Given the description of an element on the screen output the (x, y) to click on. 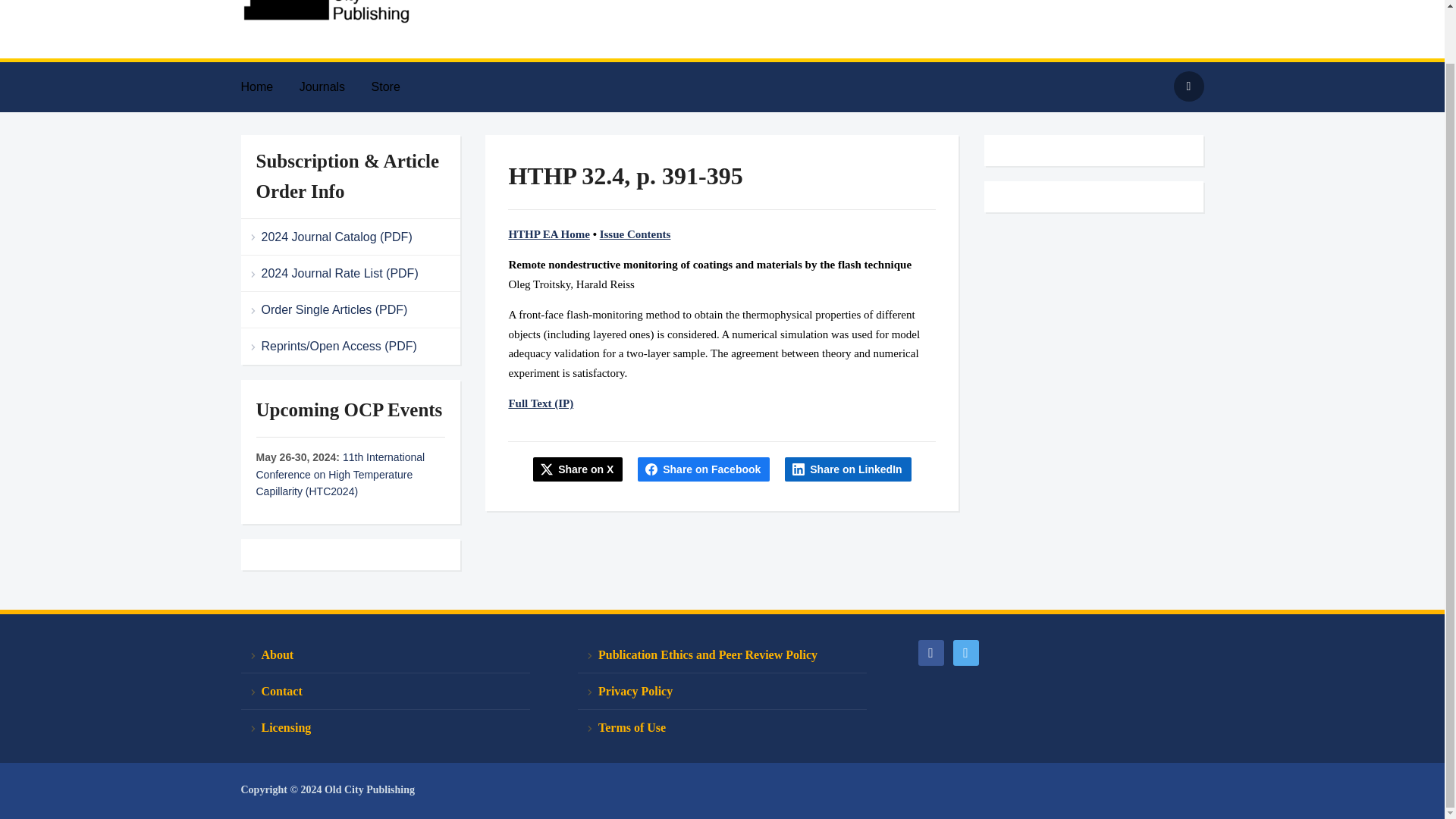
Terms of Use (722, 727)
Share on Facebook (703, 469)
Share this on Facebook (703, 469)
Home (269, 86)
Licensing (385, 727)
Share on X (577, 469)
Issue Contents (635, 234)
Journals (333, 86)
Share this on X (577, 469)
facebook (930, 650)
